Given the description of an element on the screen output the (x, y) to click on. 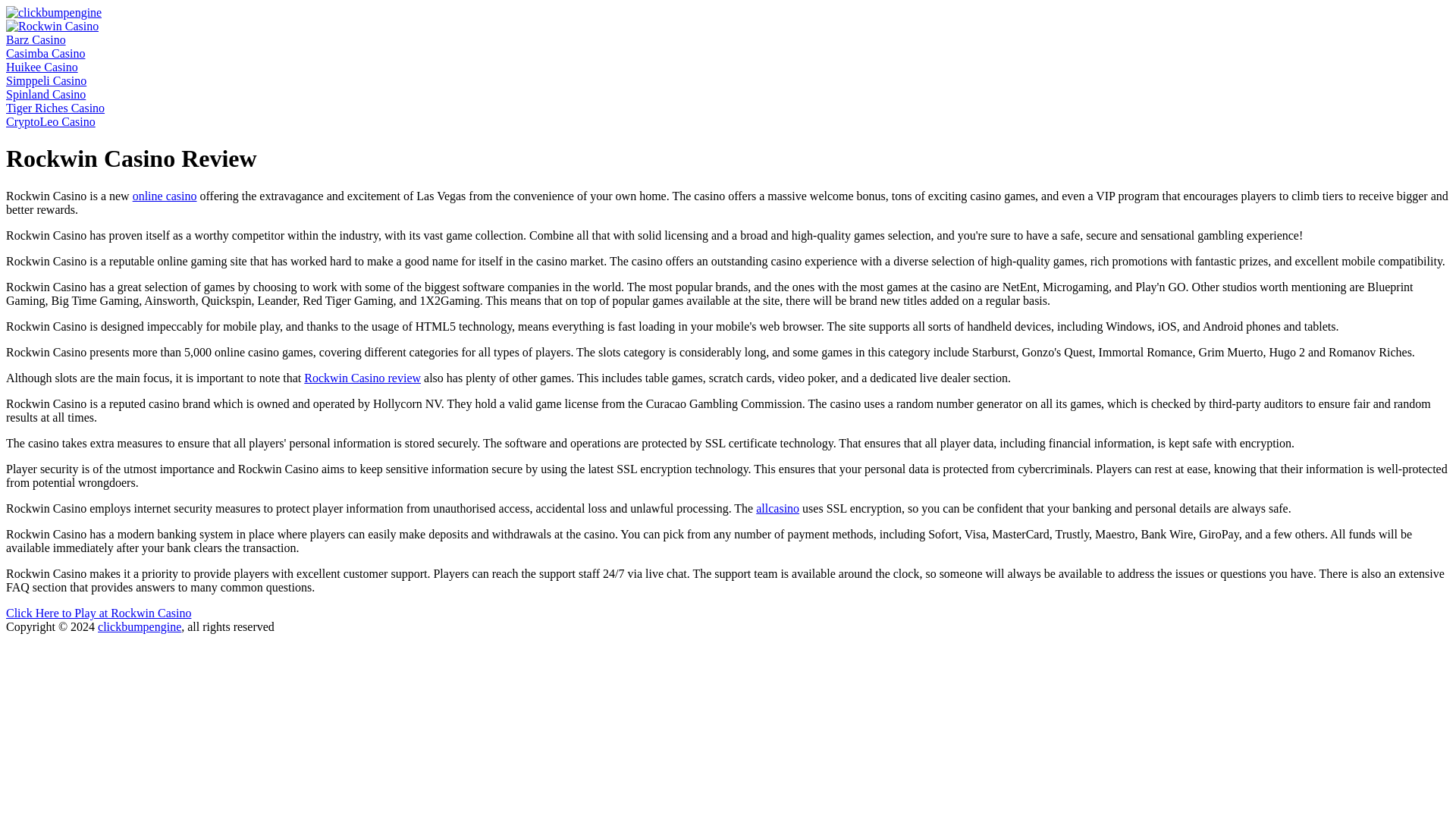
Simppeli Casino (45, 80)
Casimba Casino (44, 52)
Click Here to Play at Rockwin Casino (97, 612)
CryptoLeo Casino (50, 121)
Barz Casino (35, 39)
online casino (164, 195)
allcasino (777, 508)
Tiger Riches Casino (54, 107)
Huikee Casino (41, 66)
Spinland Casino (45, 93)
